Given the description of an element on the screen output the (x, y) to click on. 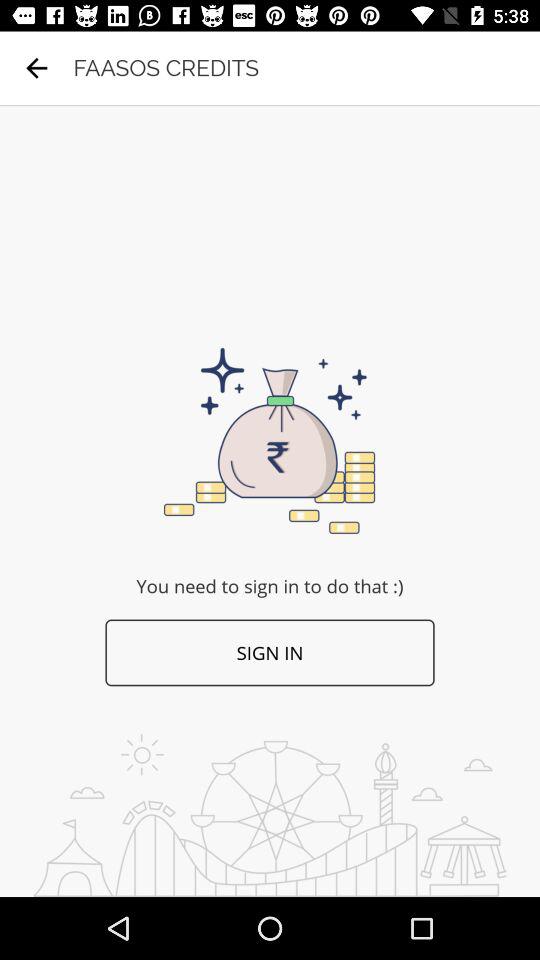
tap the icon to the left of faasos credits icon (36, 68)
